Given the description of an element on the screen output the (x, y) to click on. 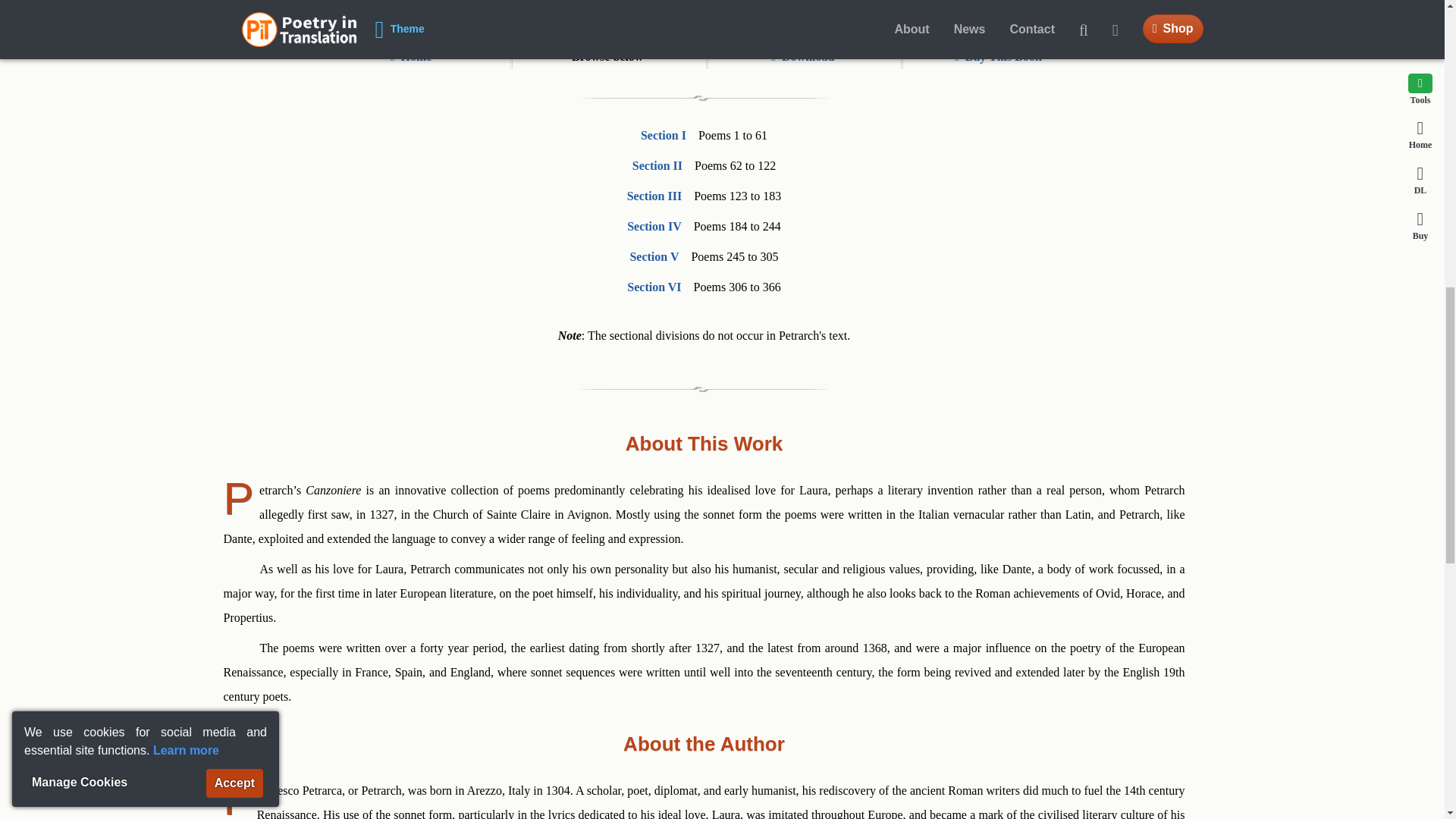
  Home (411, 56)
Section II (656, 164)
Section IV (654, 226)
  Buy This Book (998, 56)
Section III (654, 195)
  Download (802, 56)
Section VI (654, 286)
Section I (662, 134)
Section V (653, 256)
